Given the description of an element on the screen output the (x, y) to click on. 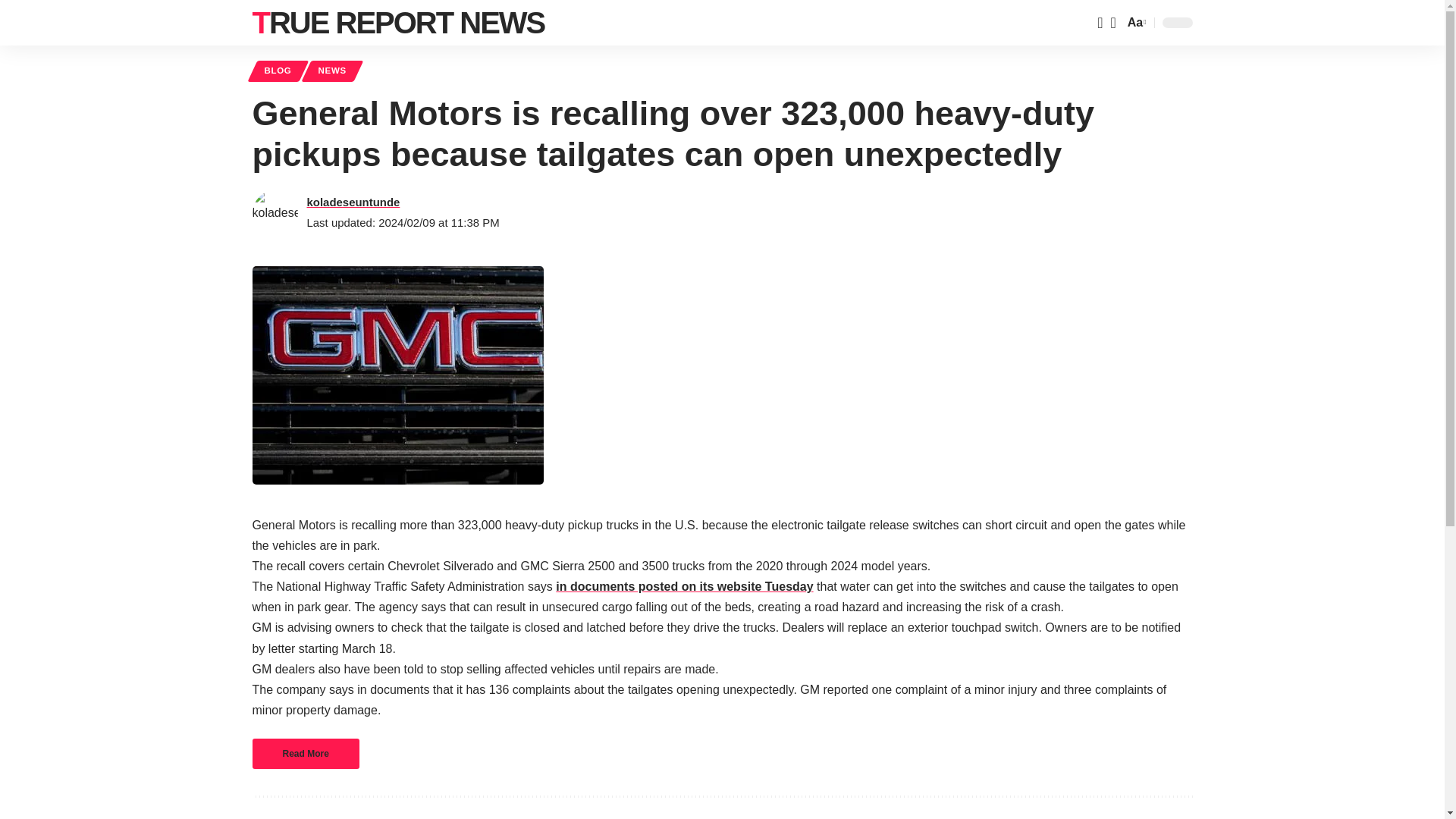
Read More (304, 753)
koladeseuntunde (351, 201)
TRUE REPORT NEWS (397, 22)
BLOG (276, 70)
NEWS (331, 70)
in documents posted on its website Tuesday (684, 585)
Aa (1135, 22)
True Report News (397, 22)
